Given the description of an element on the screen output the (x, y) to click on. 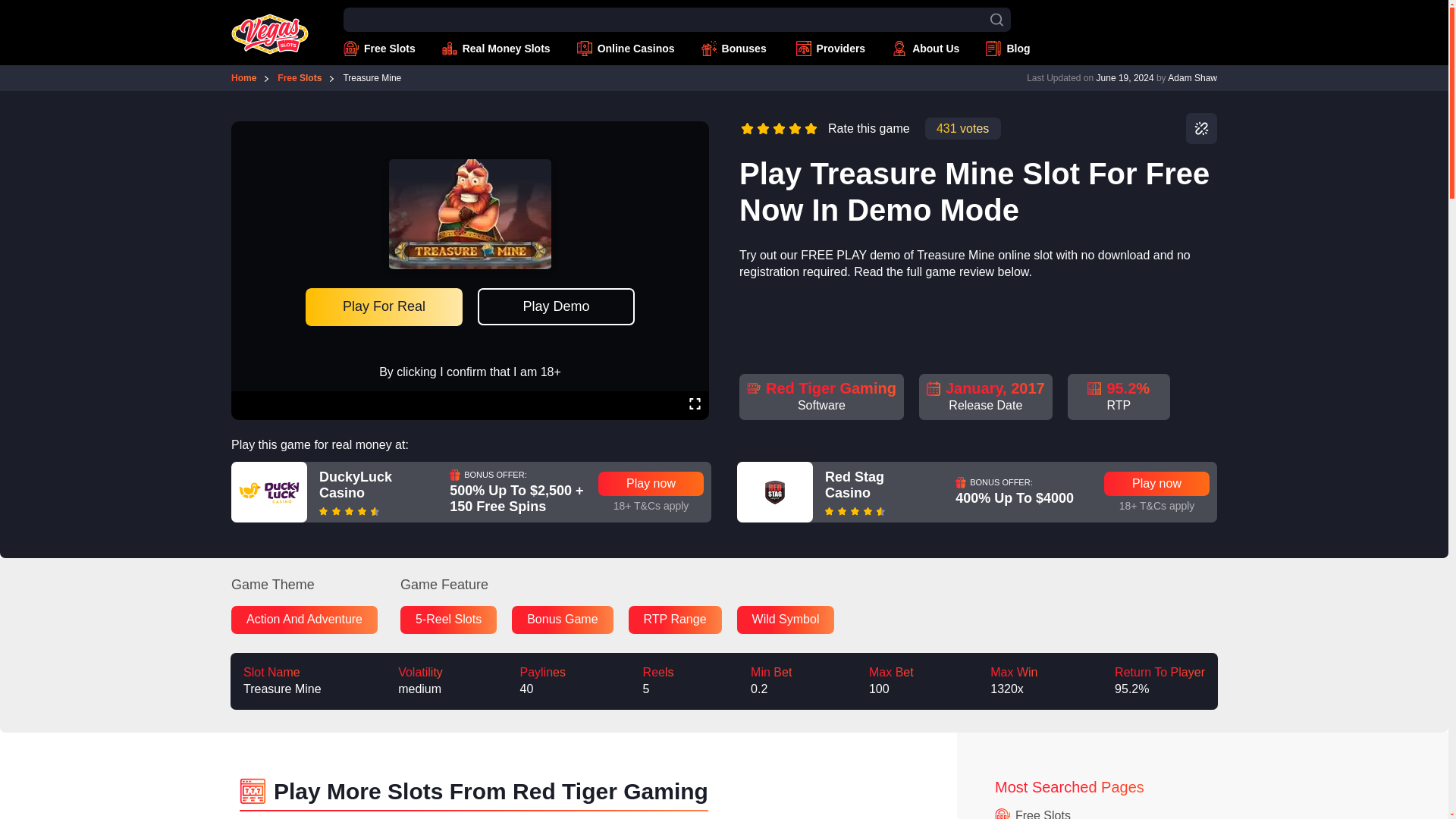
Bonuses  (735, 48)
search (996, 19)
Real Money Slots (496, 48)
Online Casinos (625, 48)
Providers (831, 48)
Search (6, 6)
Free Slots (378, 48)
